Given the description of an element on the screen output the (x, y) to click on. 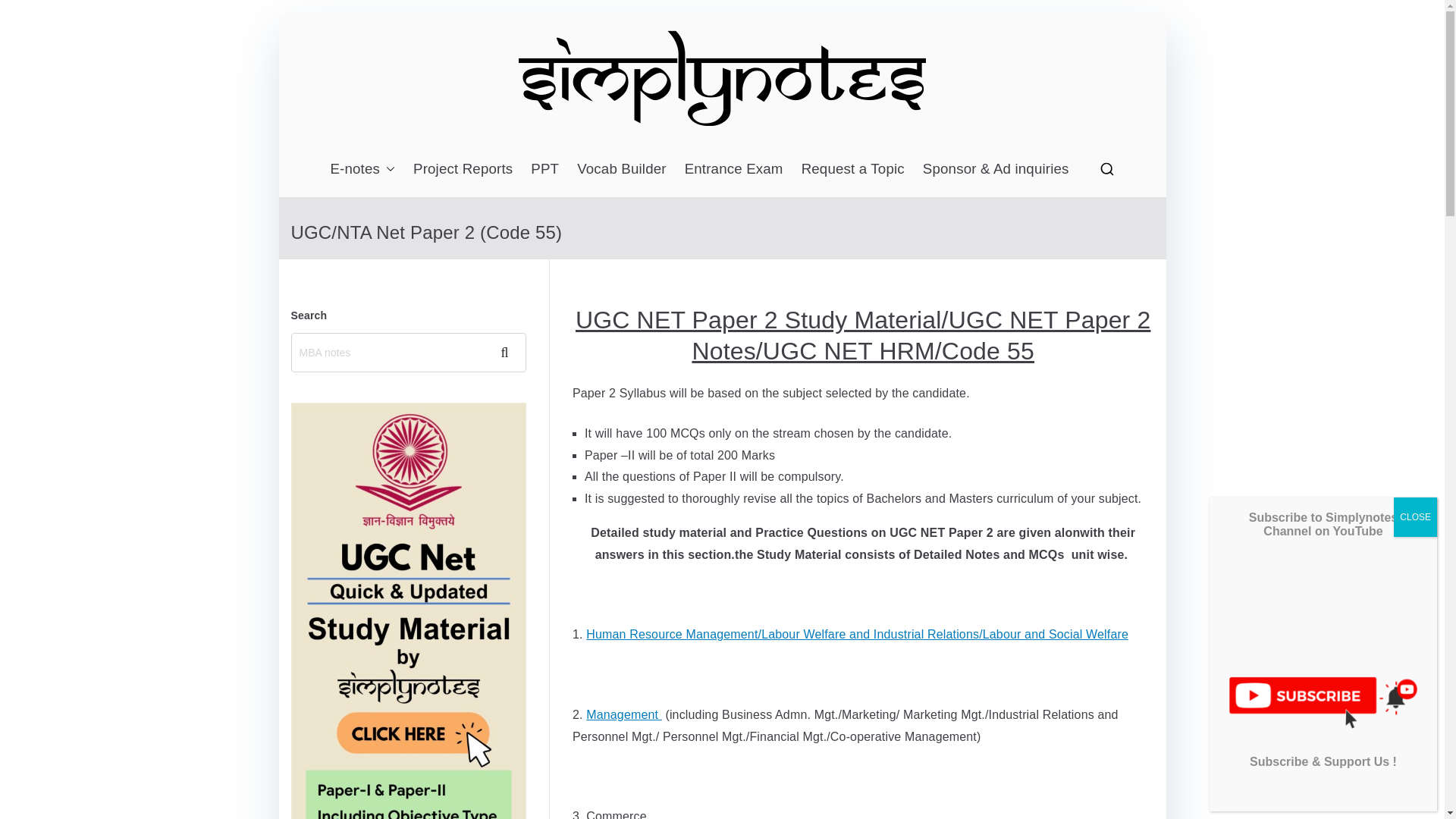
Request a Topic (853, 168)
PPT (545, 168)
Search (26, 12)
E-notes (362, 168)
Vocab Builder (621, 168)
Management  (624, 714)
Project Reports (462, 168)
Entrance Exam (733, 168)
